Given the description of an element on the screen output the (x, y) to click on. 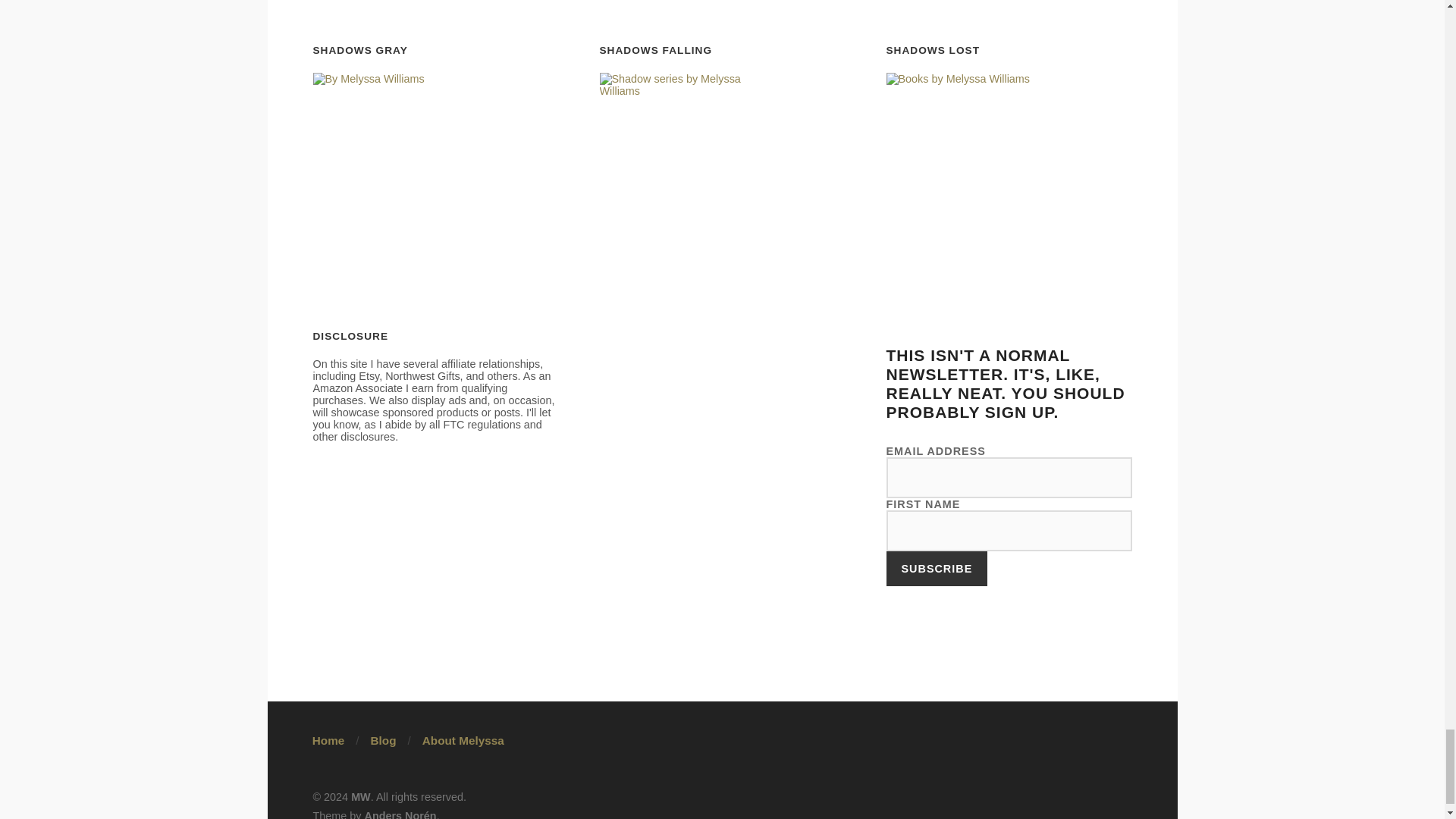
Subscribe (936, 568)
Home (329, 739)
Blog (382, 739)
Subscribe (936, 568)
